Given the description of an element on the screen output the (x, y) to click on. 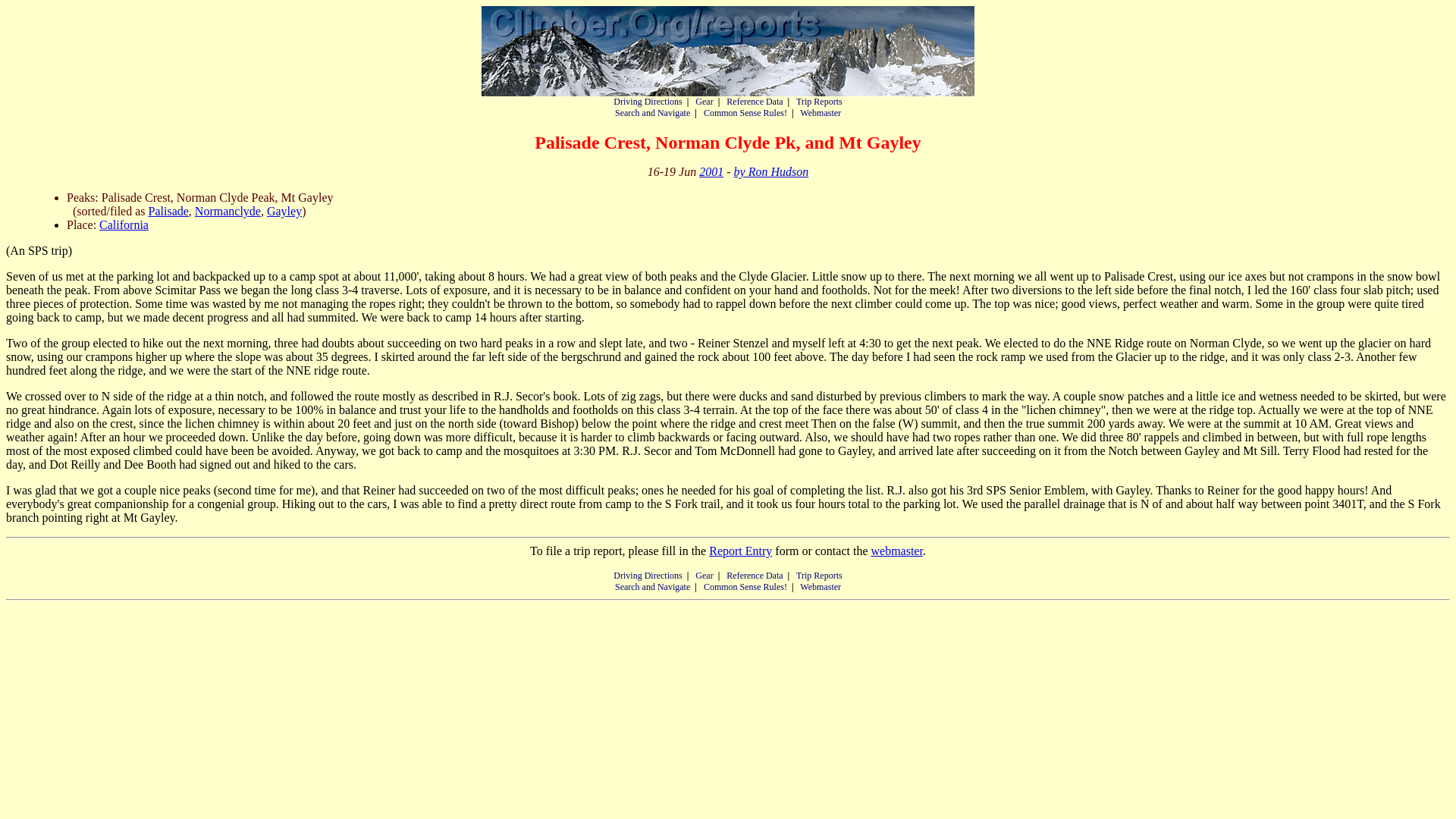
Gear (704, 575)
Climber.Org Home Page (727, 50)
Gear (704, 101)
Common Sense Rules! (745, 586)
webmaster (895, 550)
Reference Data (754, 101)
Driving Directions (646, 575)
Palisade (168, 210)
Driving Directions (646, 101)
Webmaster (820, 586)
